Given the description of an element on the screen output the (x, y) to click on. 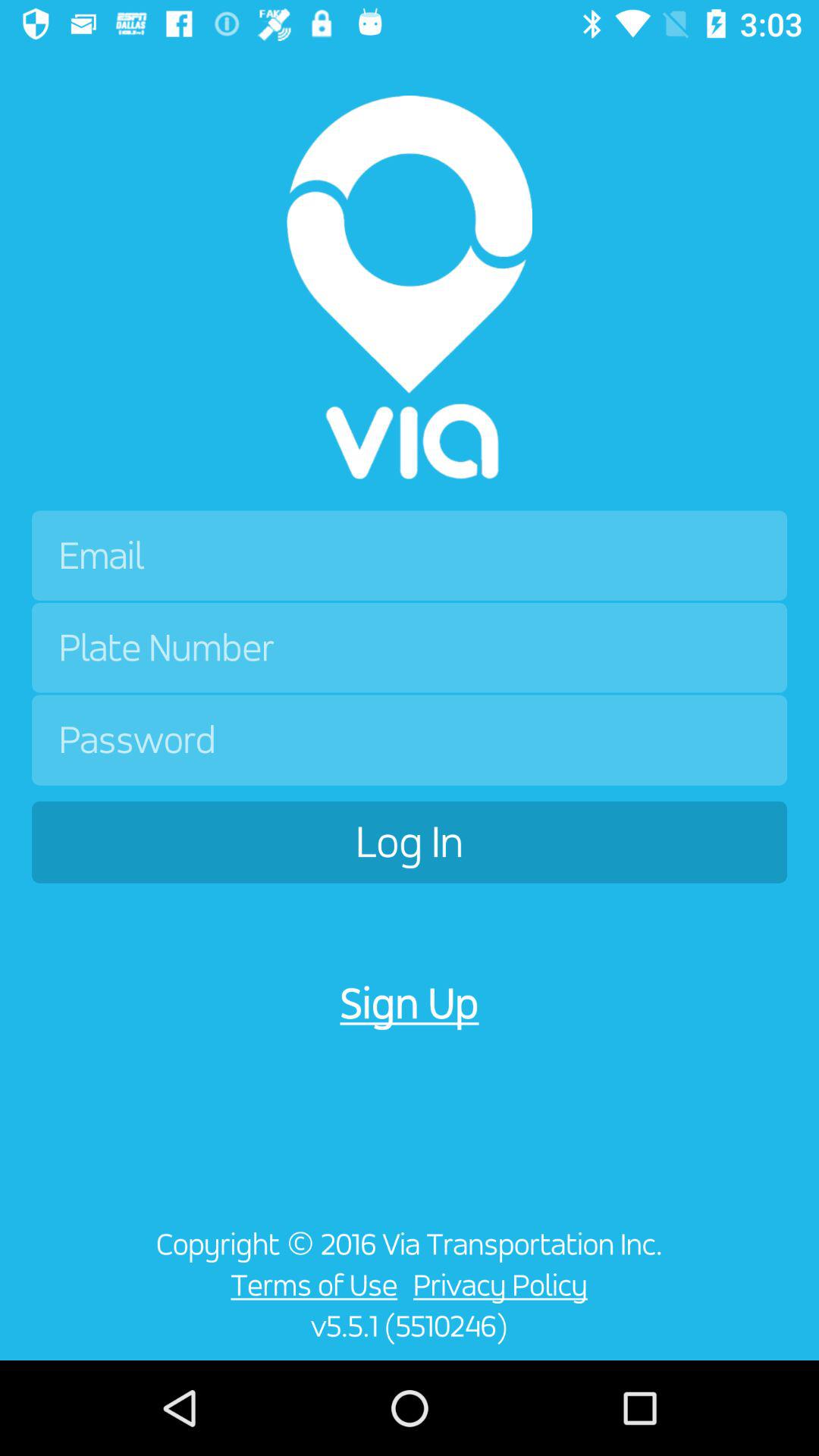
tap item to the left of the terms of use icon (65, 1294)
